Given the description of an element on the screen output the (x, y) to click on. 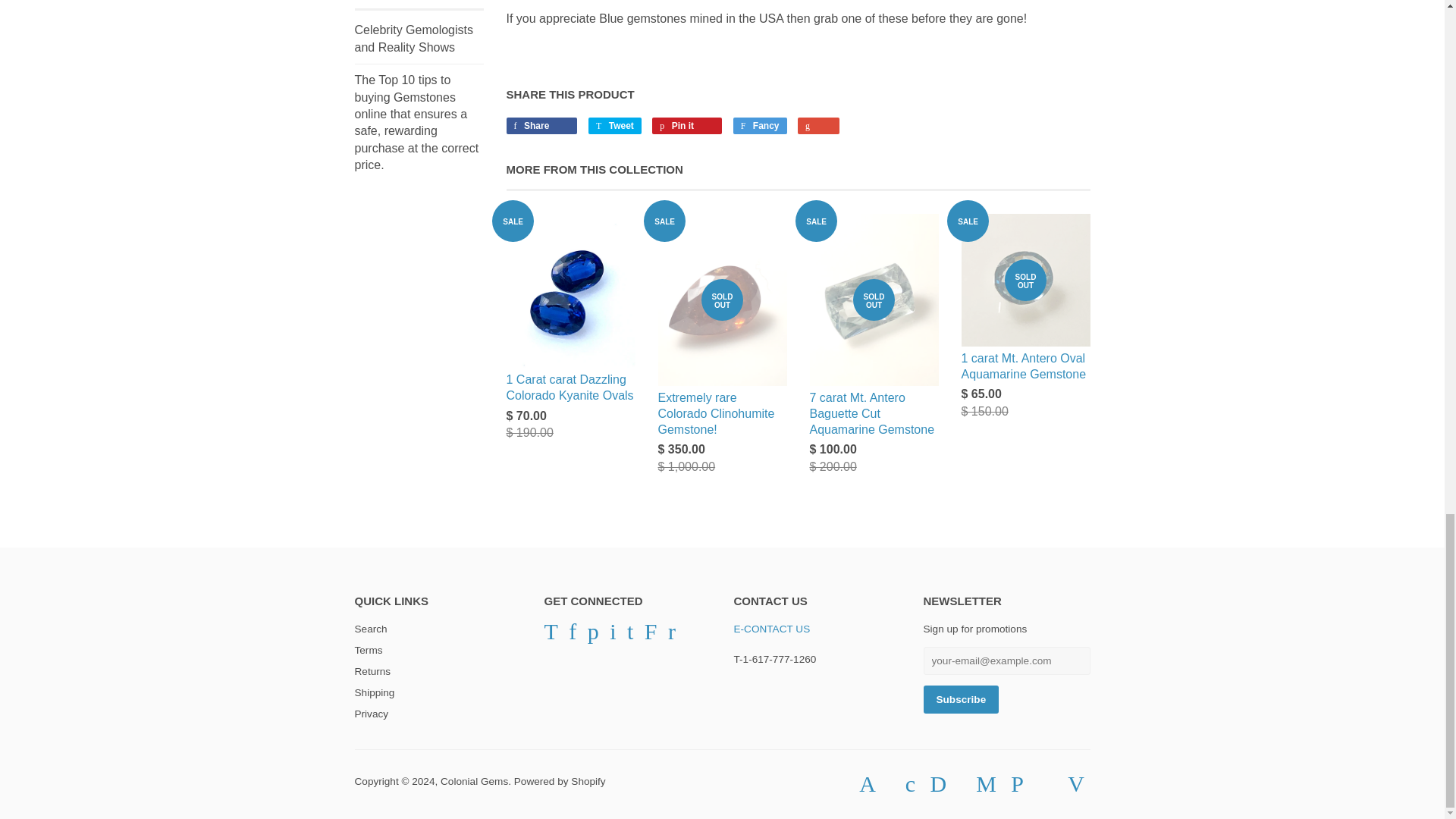
Subscribe (960, 699)
Colonial Gems on Fancy (651, 635)
Colonial Gems on Pinterest (593, 635)
Colonial Gems on Twitter (550, 635)
